Given the description of an element on the screen output the (x, y) to click on. 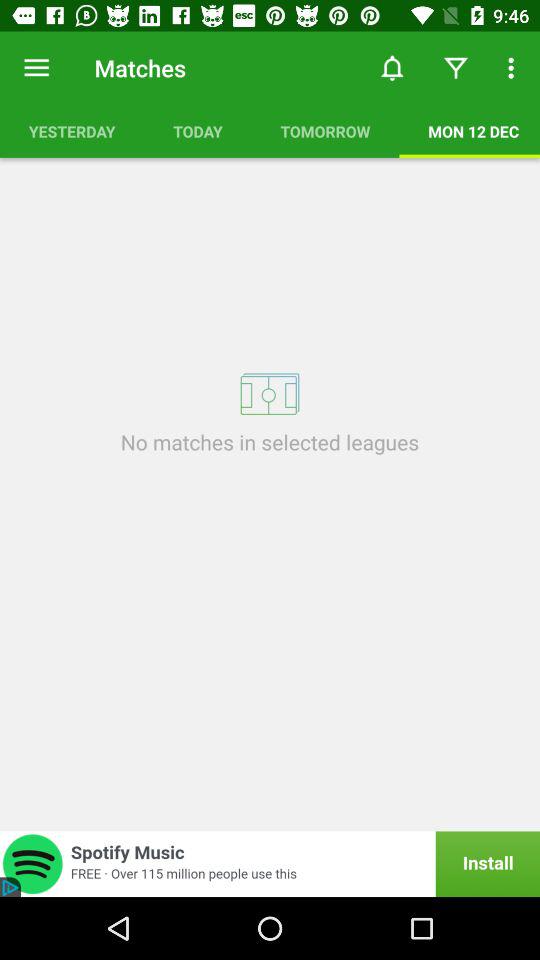
launch item to the right of today item (325, 131)
